Given the description of an element on the screen output the (x, y) to click on. 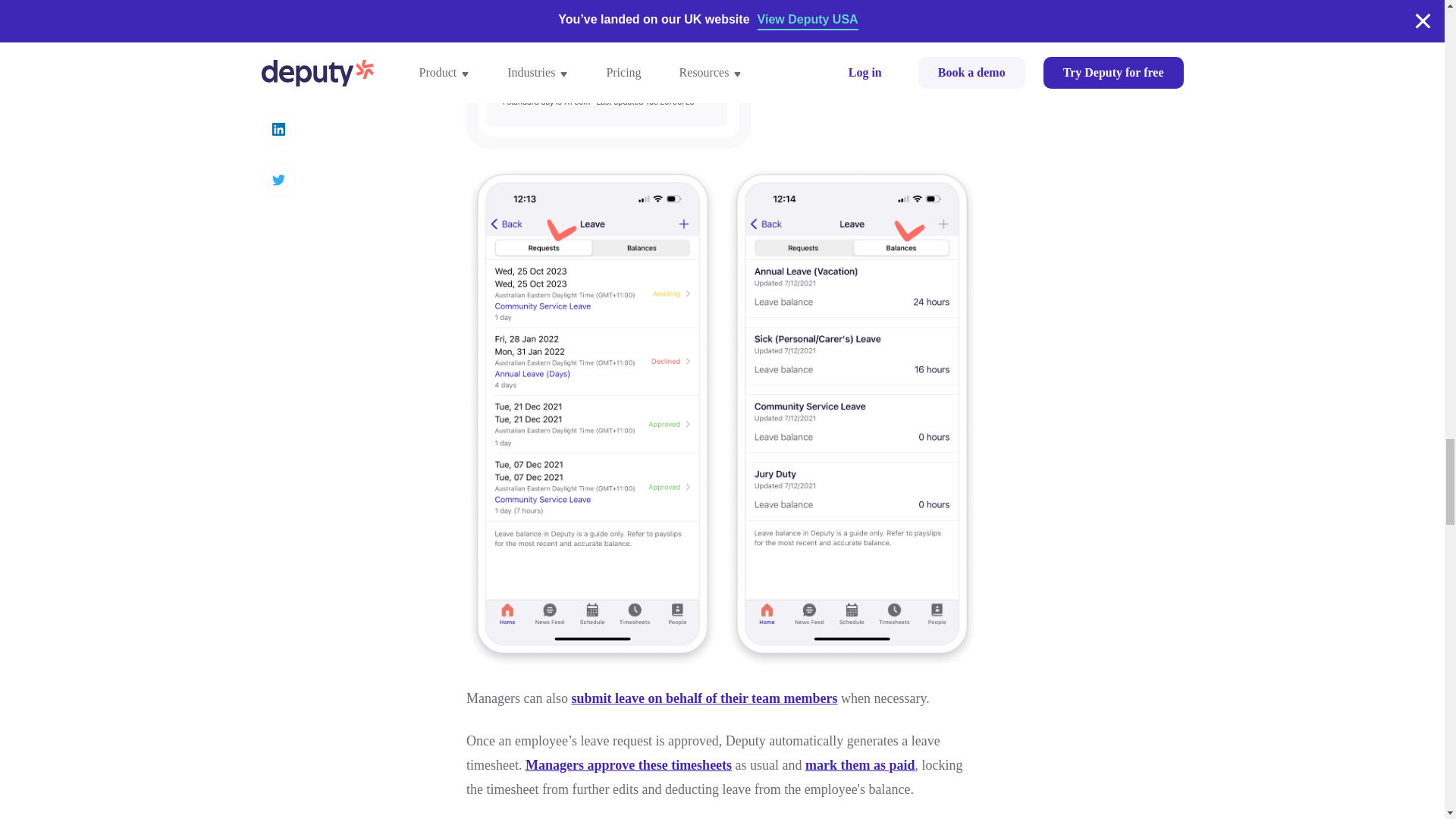
Managers approve these timesheets (628, 765)
submit leave on behalf of their team members (703, 698)
mark them as paid (860, 765)
